Given the description of an element on the screen output the (x, y) to click on. 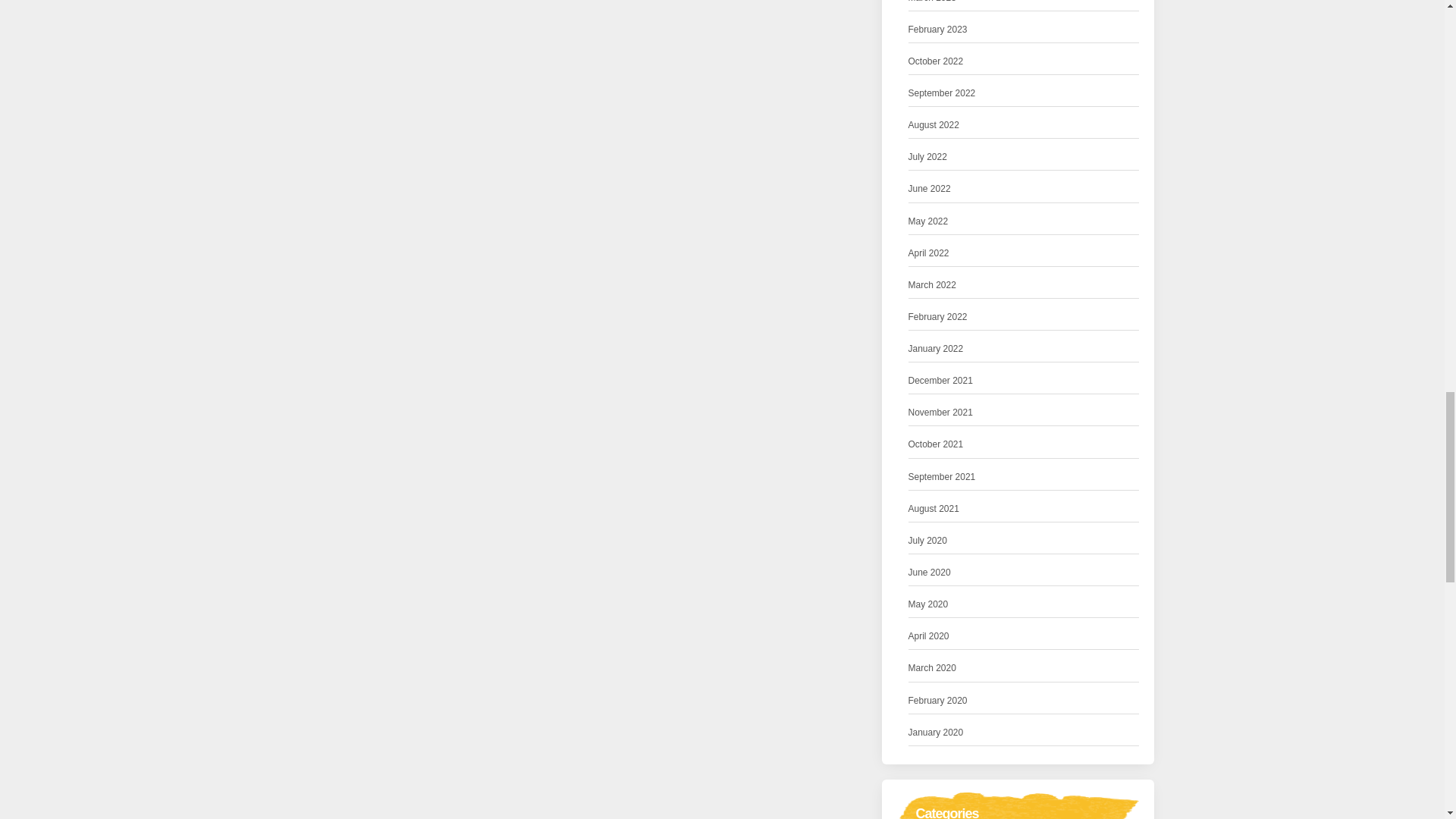
March 2023 (932, 2)
February 2023 (938, 29)
